Given the description of an element on the screen output the (x, y) to click on. 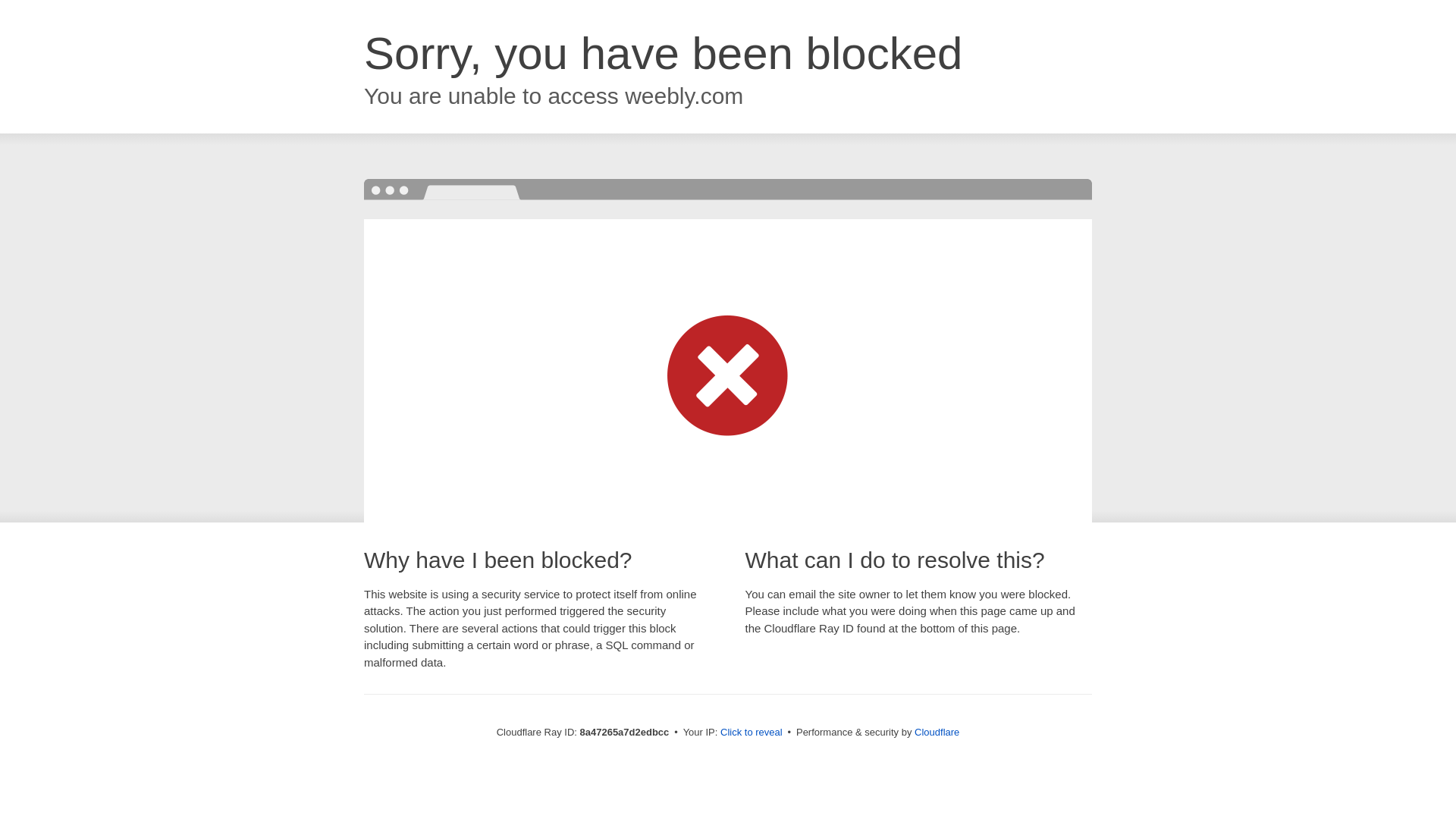
Click to reveal (751, 732)
Cloudflare (936, 731)
